Given the description of an element on the screen output the (x, y) to click on. 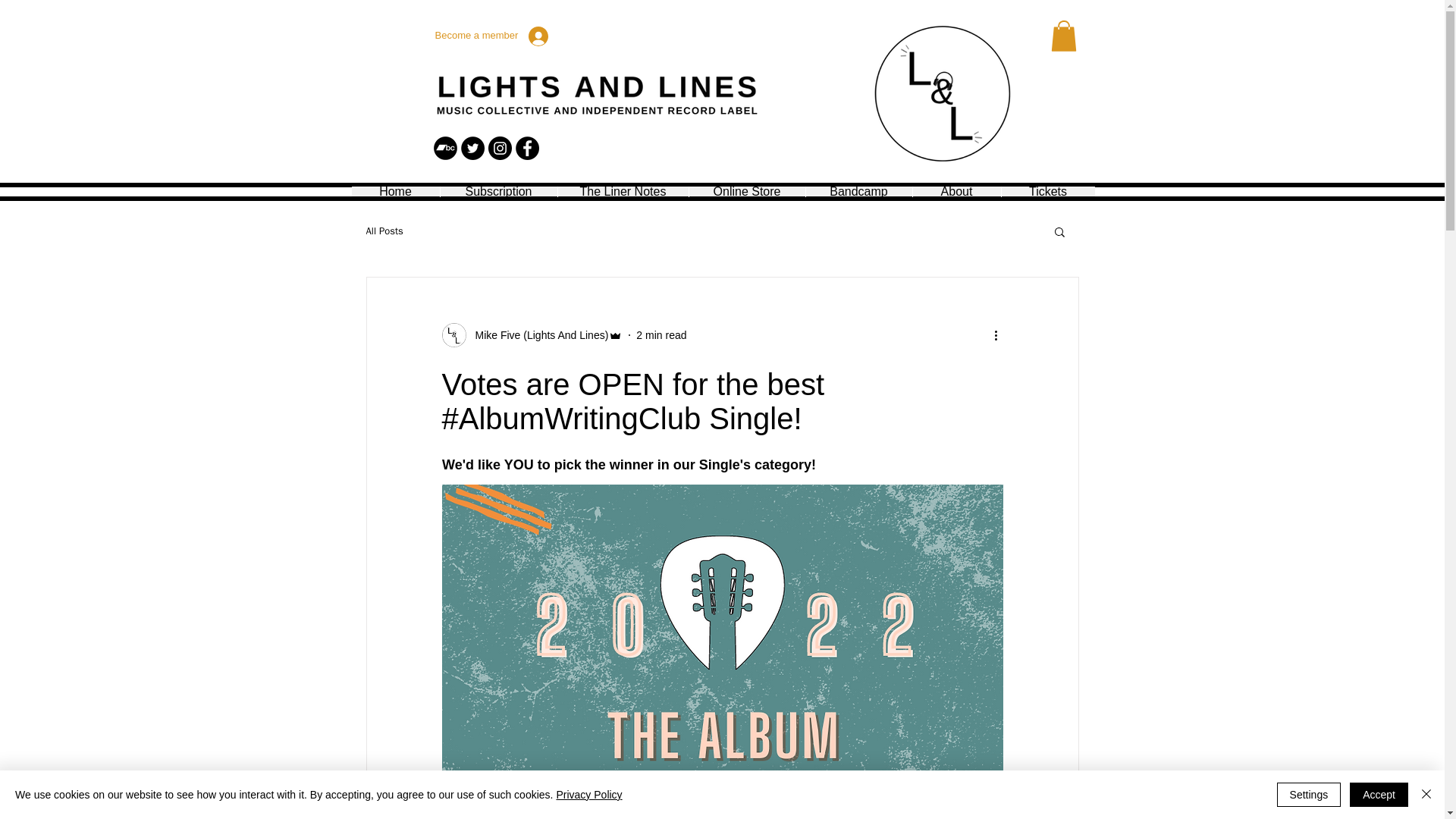
Home (395, 191)
Privacy Policy (588, 794)
About (955, 191)
All Posts (384, 231)
Tickets (1047, 191)
The Liner Notes (621, 191)
Subscription (498, 191)
Online Store (746, 191)
2 min read (660, 335)
Accept (1378, 794)
